Given the description of an element on the screen output the (x, y) to click on. 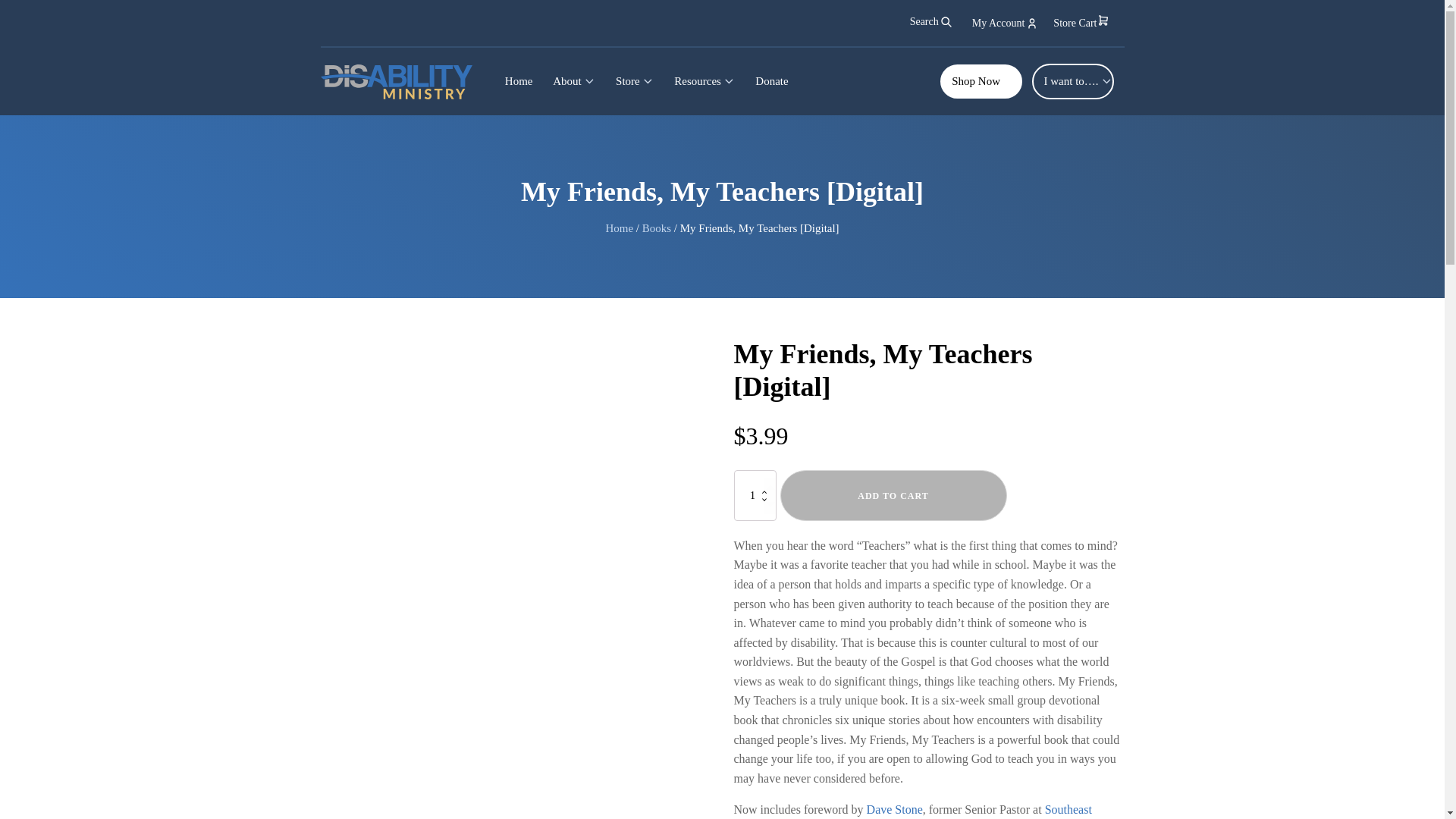
Store (634, 81)
Search (930, 21)
Home (518, 81)
My Account (1005, 23)
Search (20, 8)
Resources (704, 81)
About (574, 81)
